Given the description of an element on the screen output the (x, y) to click on. 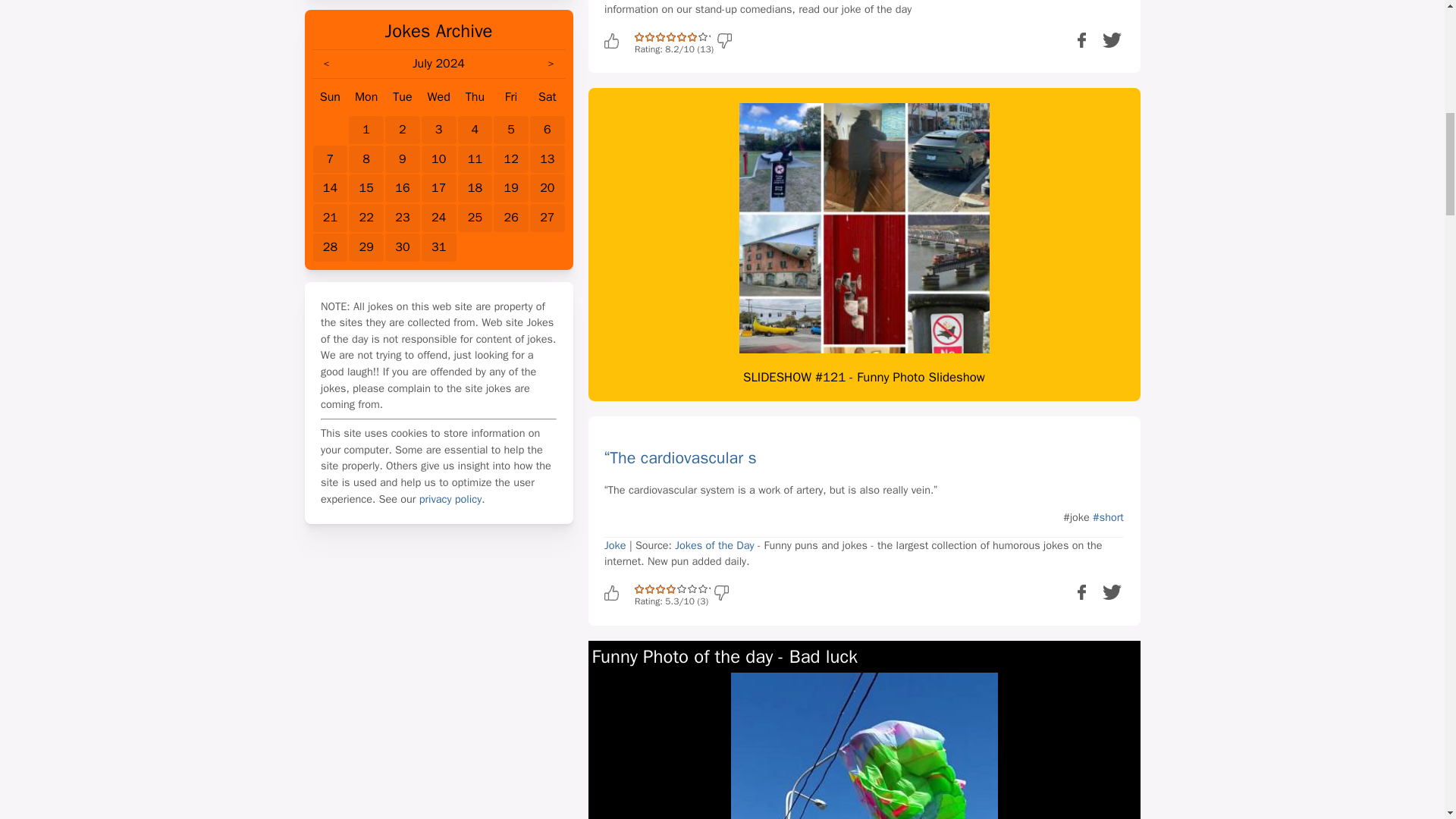
Jokes of the Day (714, 545)
Joke (615, 545)
